Given the description of an element on the screen output the (x, y) to click on. 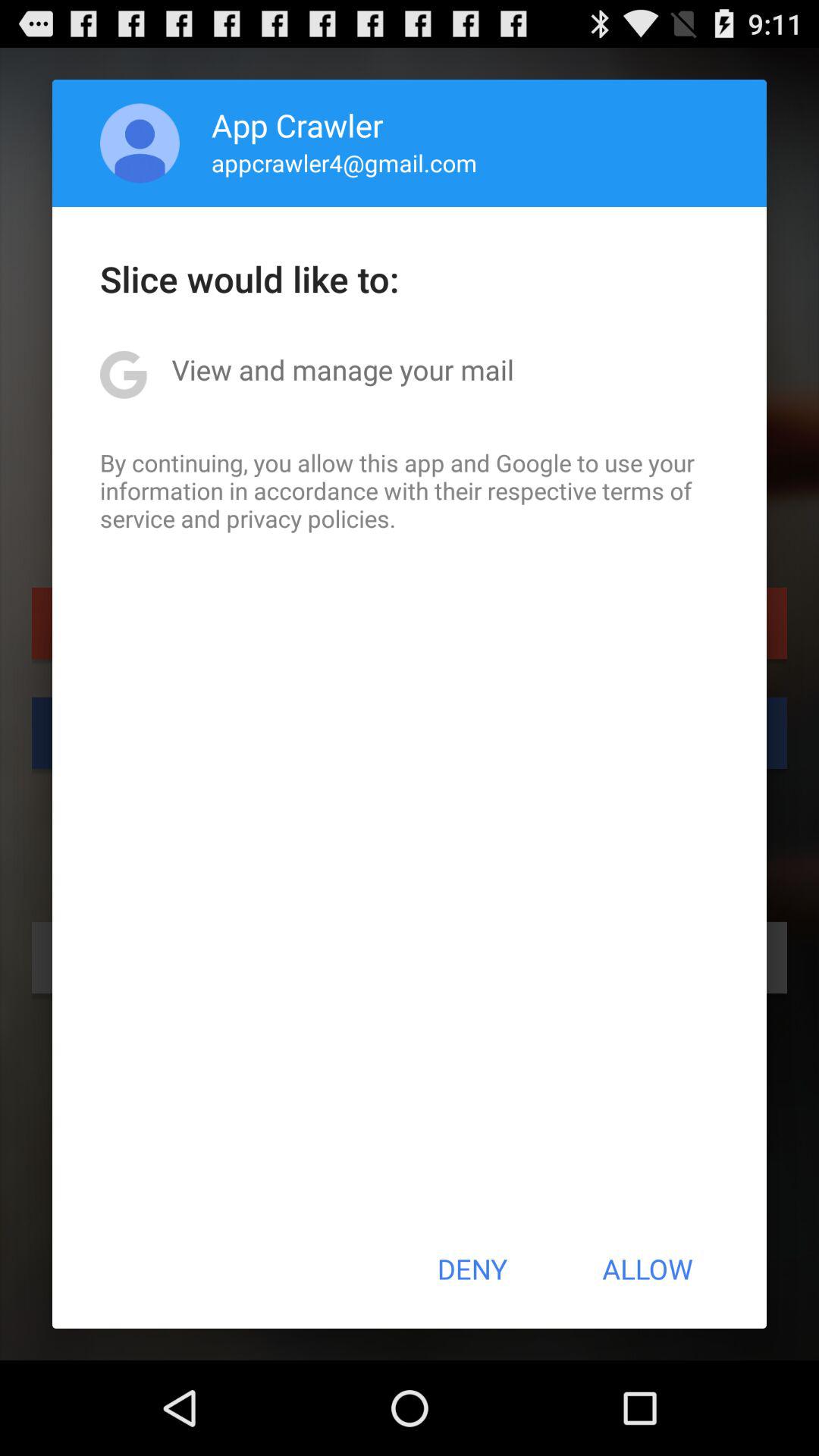
scroll to deny (471, 1268)
